Given the description of an element on the screen output the (x, y) to click on. 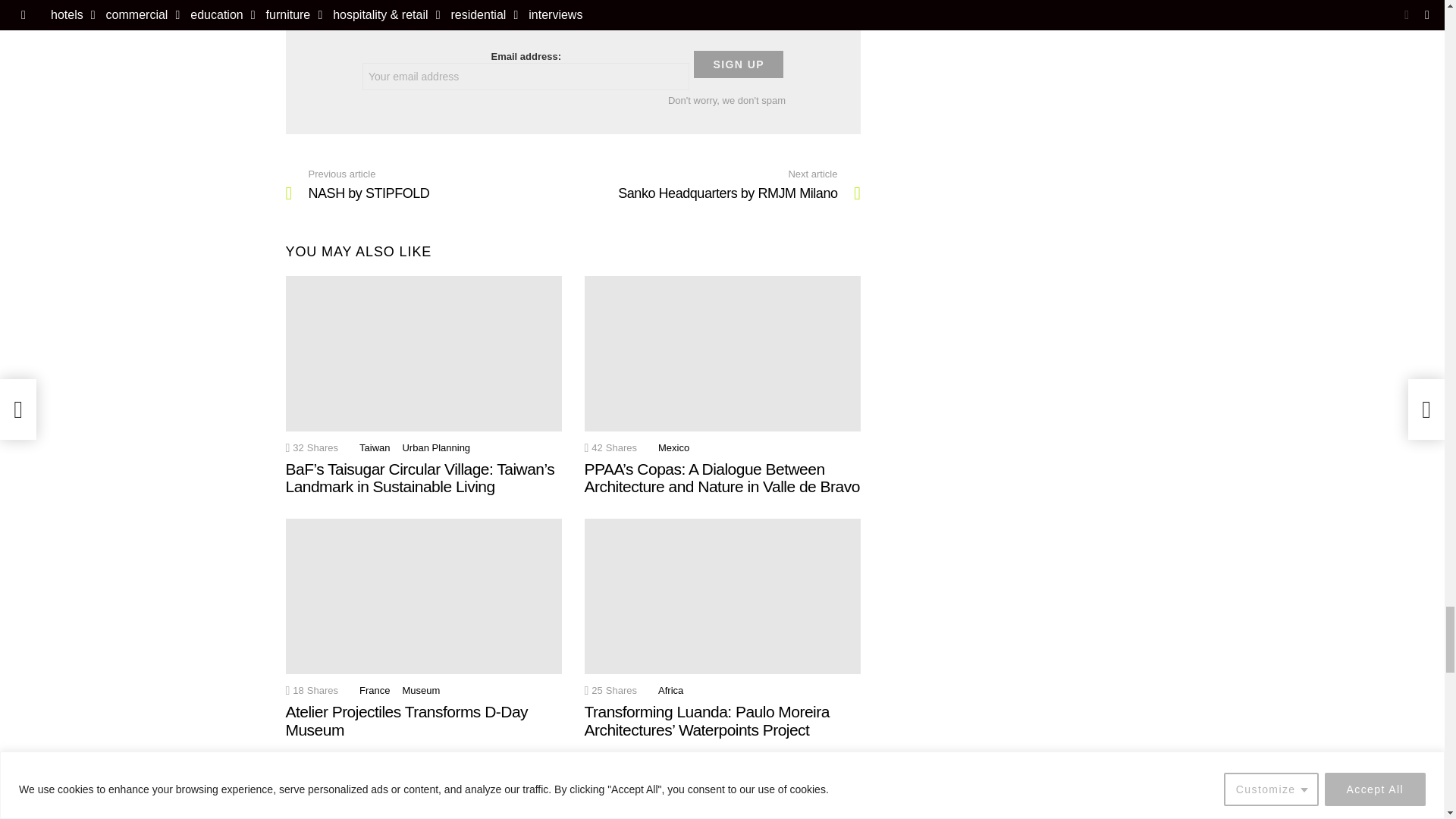
Sign up (738, 63)
